Given the description of an element on the screen output the (x, y) to click on. 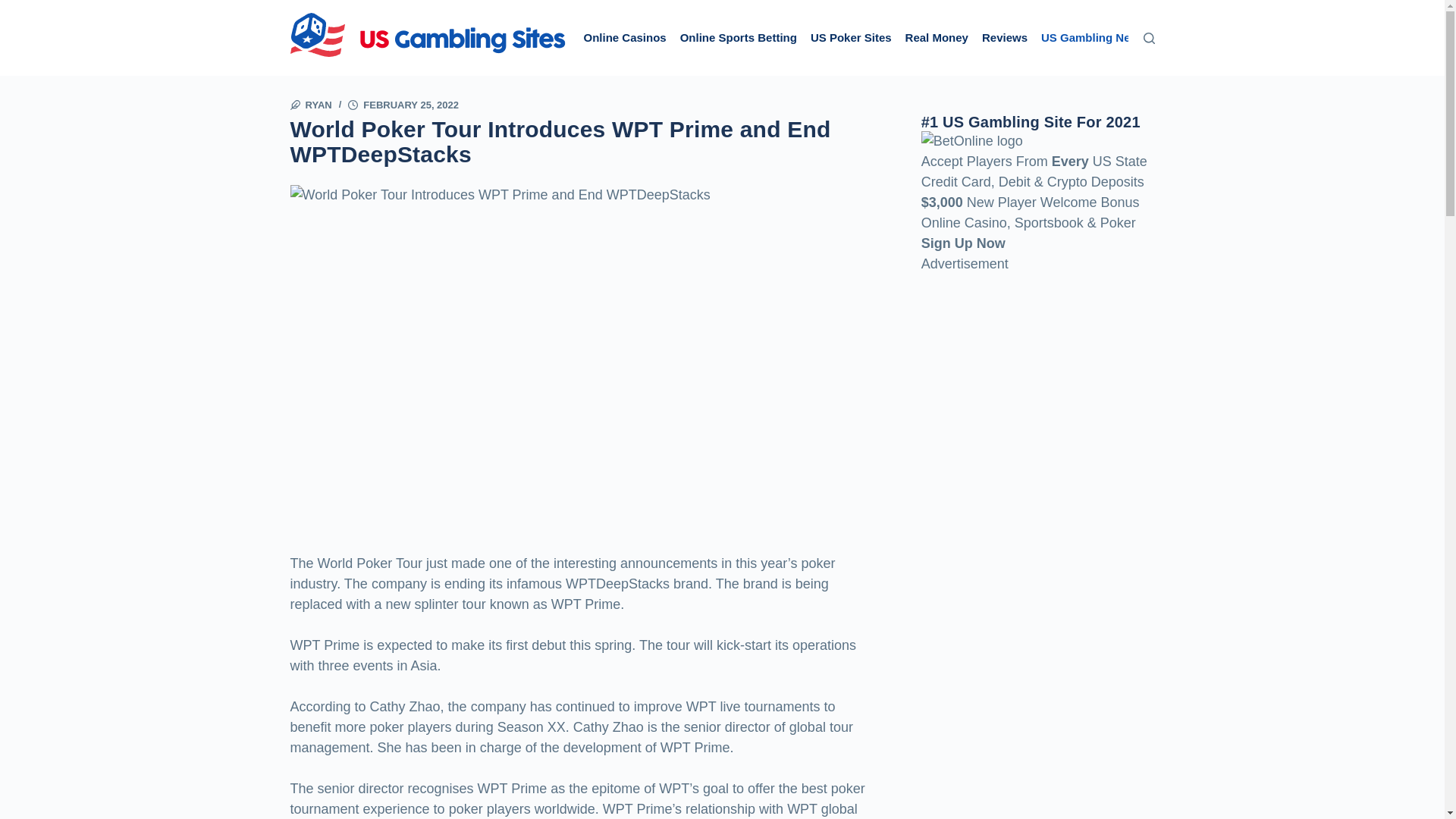
Skip to content (15, 7)
Posts by Ryan (317, 104)
Online Sports Betting (737, 38)
Online Casinos (624, 38)
RYAN (317, 104)
World Poker Tour Introduces WPT Prime and End WPTDeepStacks (583, 142)
US Poker Sites (850, 38)
Real Money (936, 38)
US Gambling News (1093, 38)
Sign Up Now (963, 242)
